Given the description of an element on the screen output the (x, y) to click on. 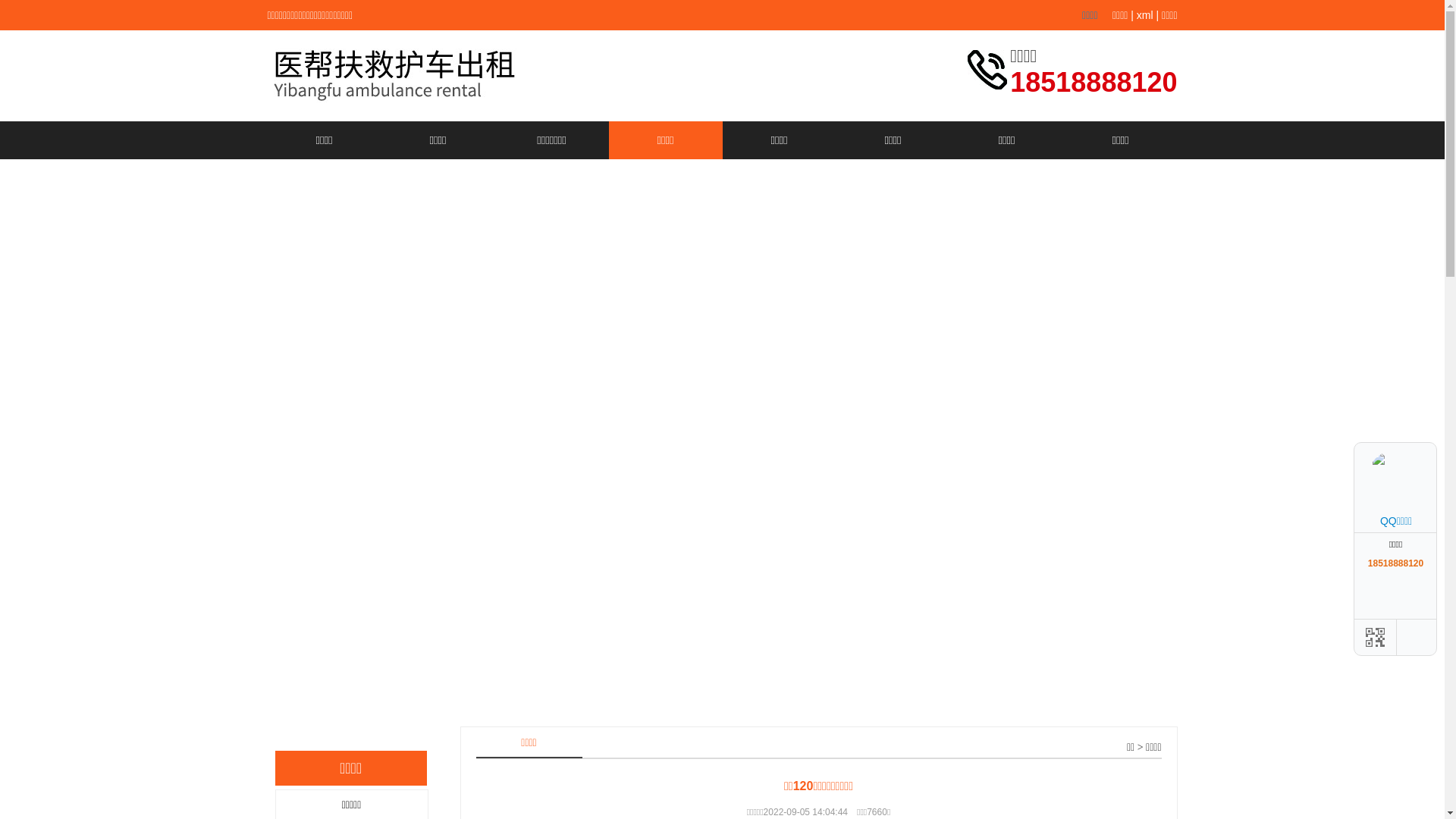
xml Element type: text (1144, 15)
  Element type: text (1420, 442)
